Given the description of an element on the screen output the (x, y) to click on. 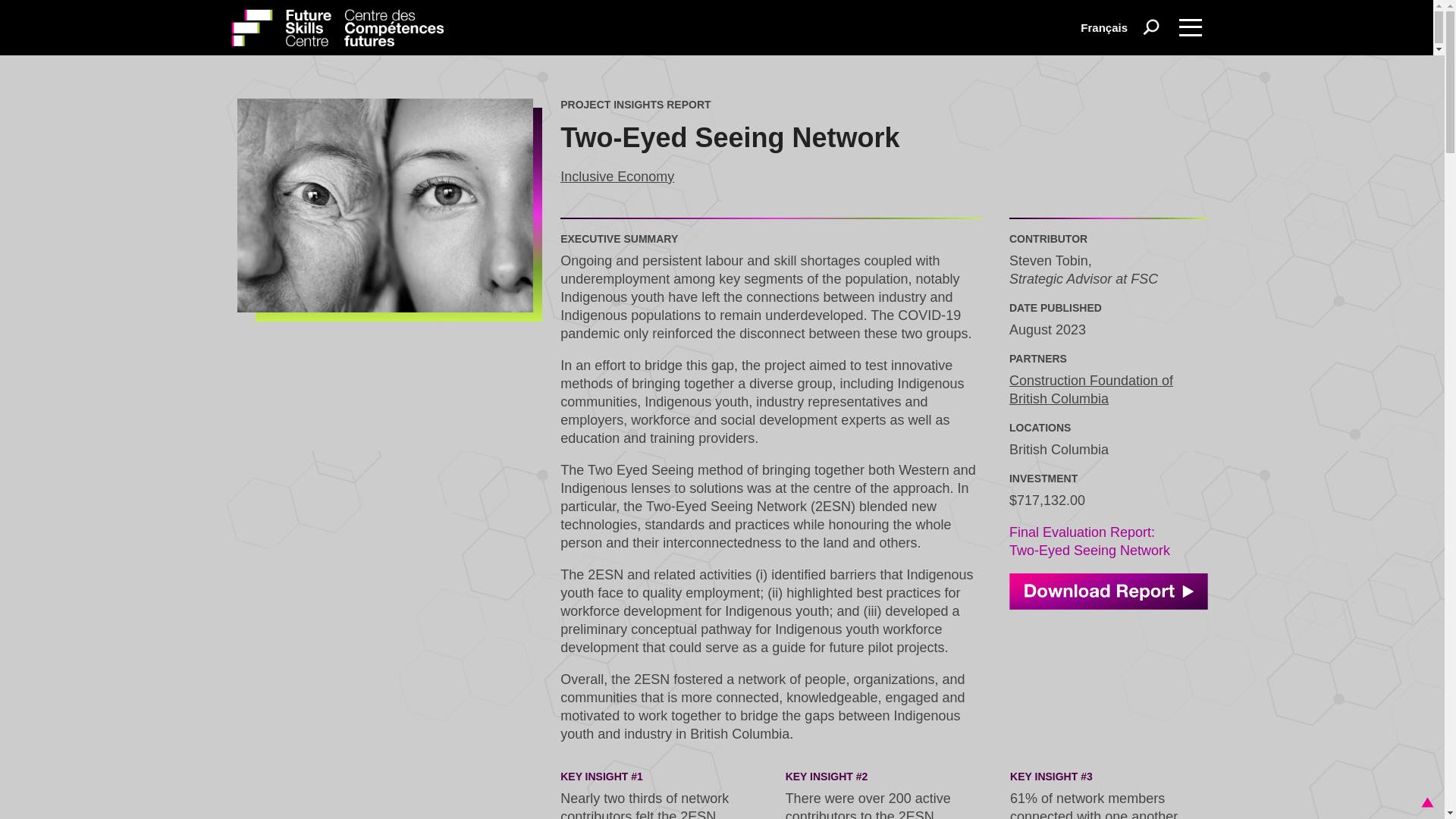
Search Created with Sketch. (1150, 27)
